Given the description of an element on the screen output the (x, y) to click on. 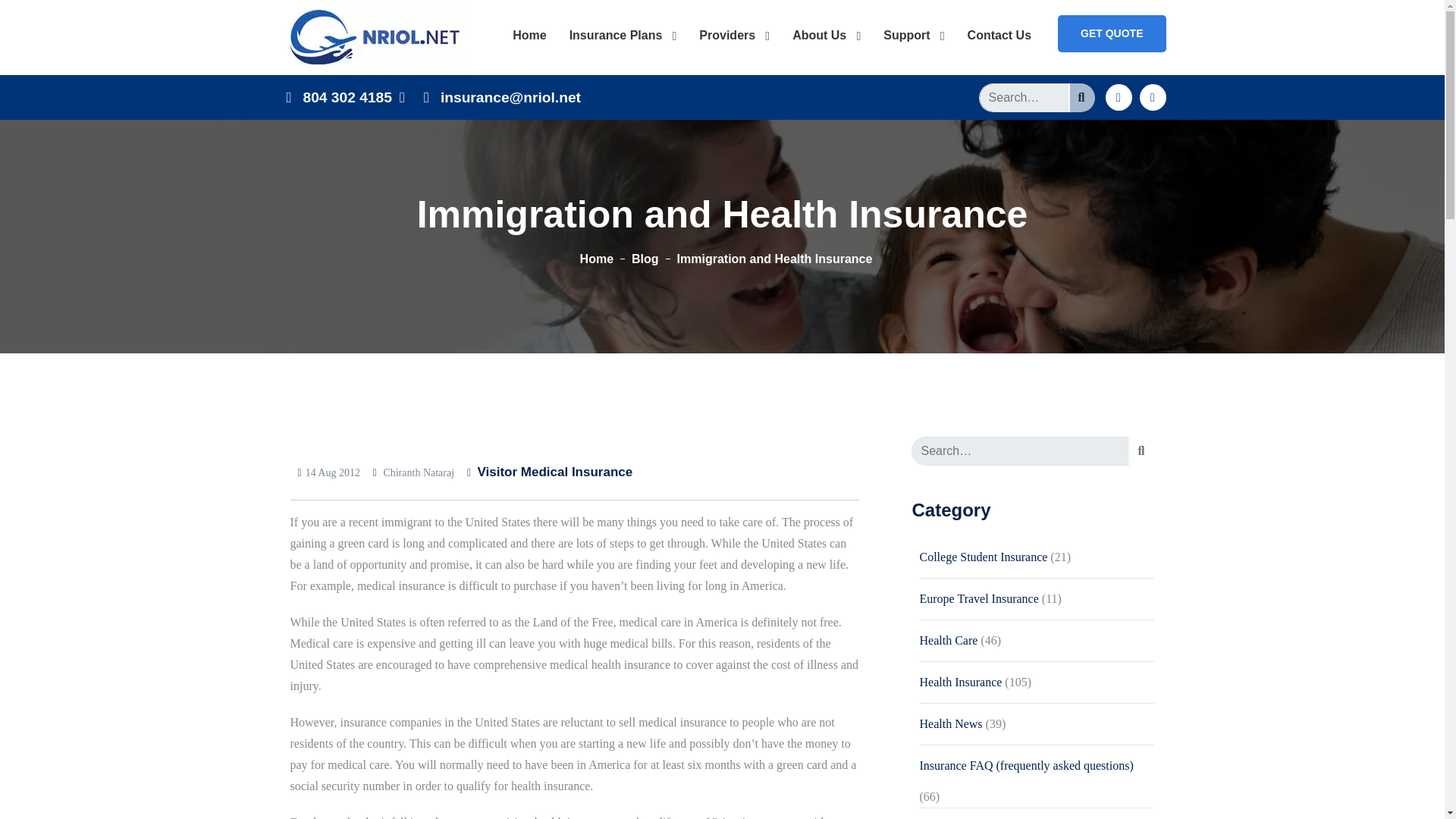
Insurance Plans (623, 35)
Home (529, 35)
